Given the description of an element on the screen output the (x, y) to click on. 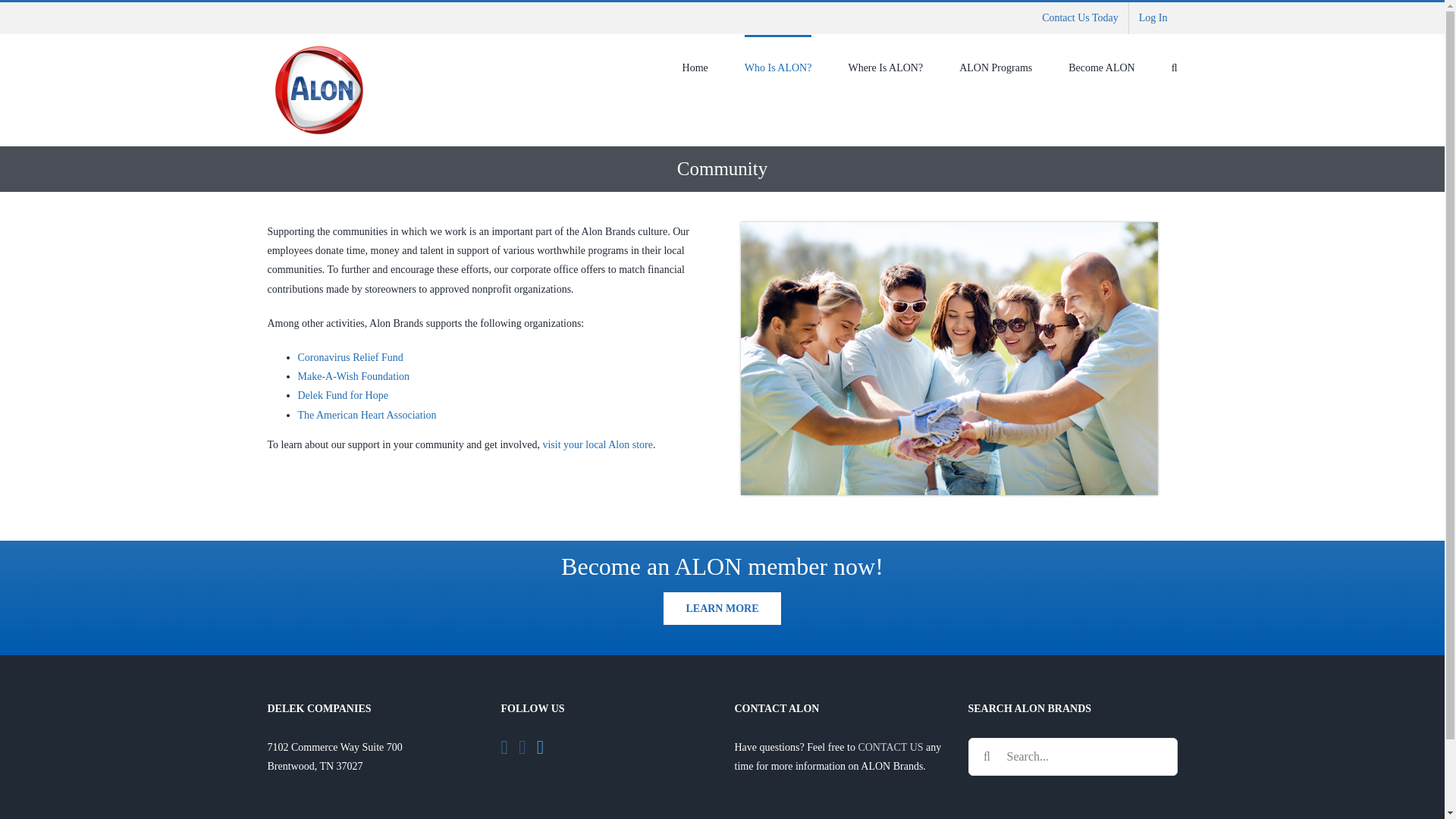
ALON Programs (995, 66)
Log In (1153, 18)
Where Is ALON? (596, 444)
Become ALON (1101, 66)
Who Is ALON? (778, 66)
Contact Us Today (1080, 18)
Where Is ALON? (885, 66)
